Given the description of an element on the screen output the (x, y) to click on. 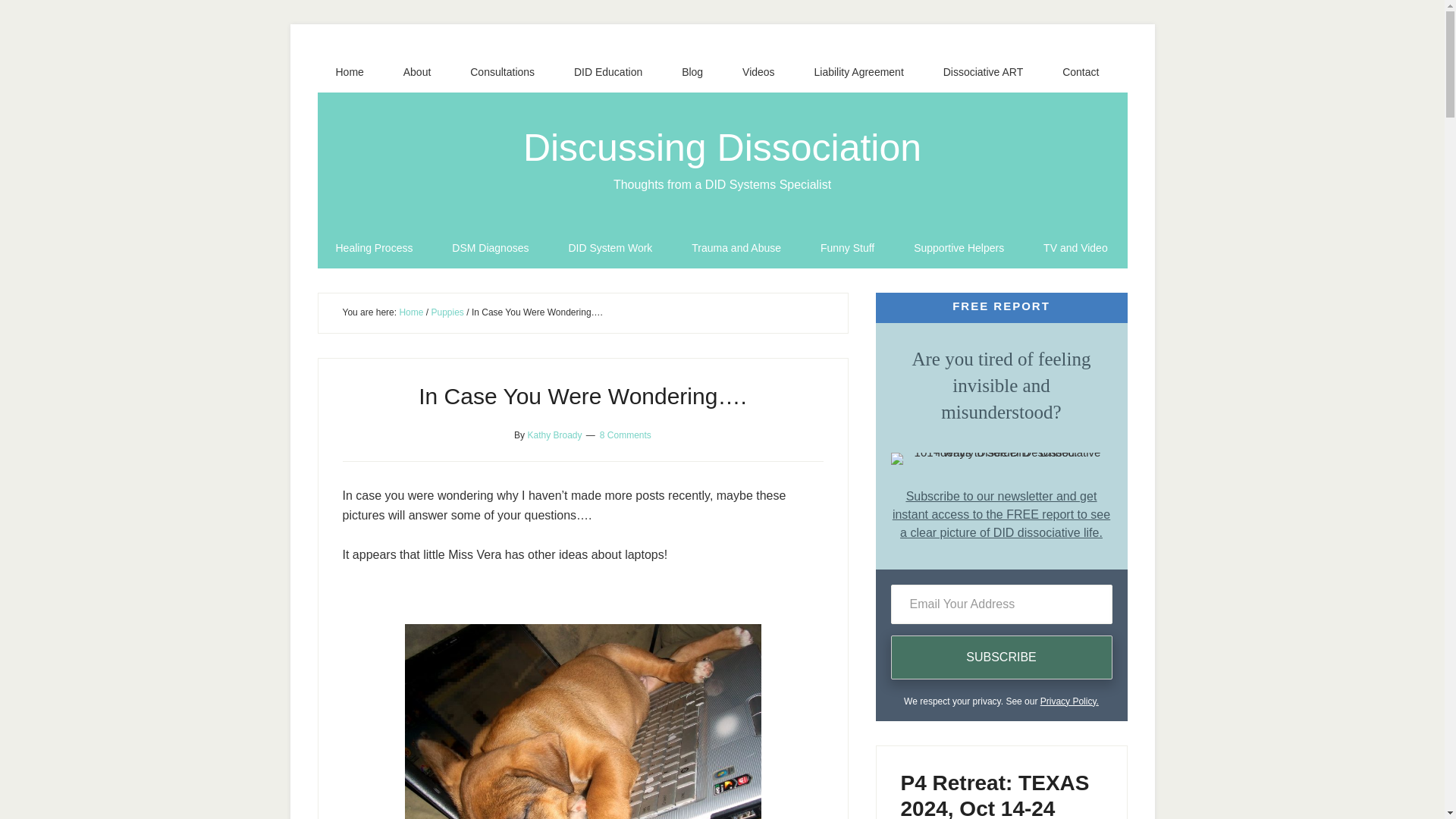
Blog (691, 71)
Videos (758, 71)
Consultations (502, 71)
About (417, 71)
Discussing Dissociation (721, 147)
Dissociative ART (983, 71)
Healing Process (373, 247)
Contact (1079, 71)
DSM Diagnoses (490, 247)
DID Education (608, 71)
